Given the description of an element on the screen output the (x, y) to click on. 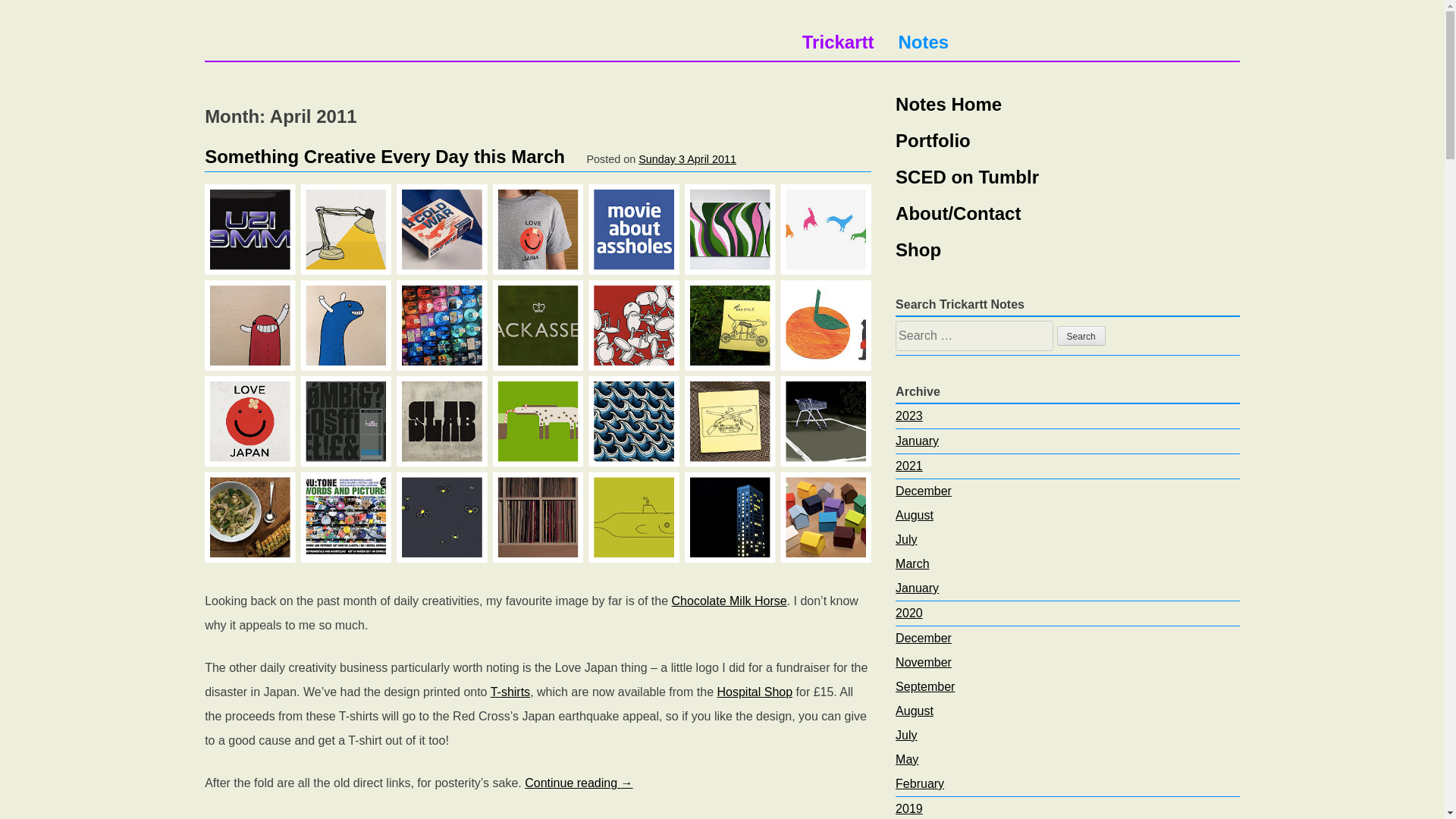
Sunday 3 April 2011 (687, 159)
Trickartt (838, 41)
December (923, 637)
March (911, 563)
Search (1081, 335)
Something Creative Every Day this March (384, 156)
February (919, 783)
January (917, 587)
SCED on Tumblr (1067, 176)
July (906, 735)
